Given the description of an element on the screen output the (x, y) to click on. 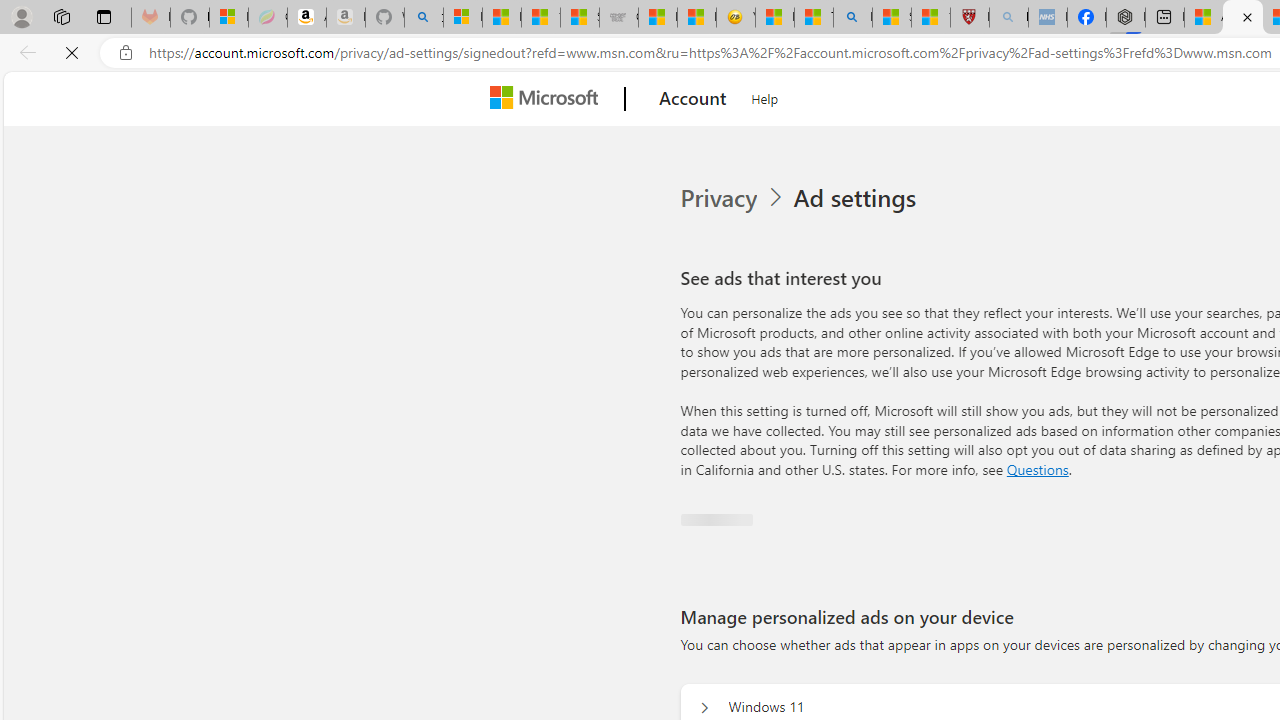
Account (692, 99)
12 Popular Science Lies that Must be Corrected (930, 17)
Manage personalized ads on your device Windows 11 (704, 708)
Bing (852, 17)
